Given the description of an element on the screen output the (x, y) to click on. 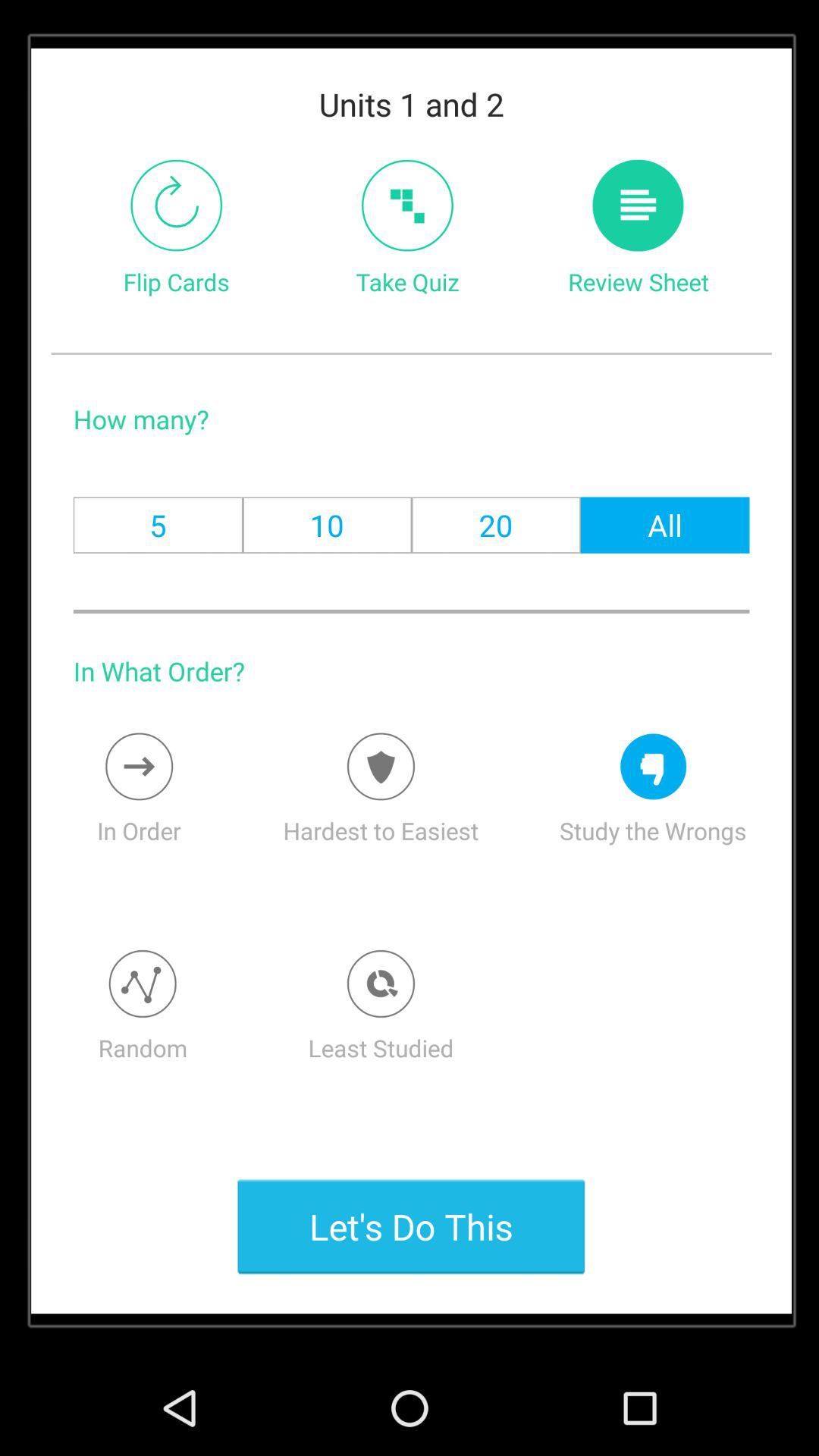
launch the icon next to review sheet item (407, 205)
